Given the description of an element on the screen output the (x, y) to click on. 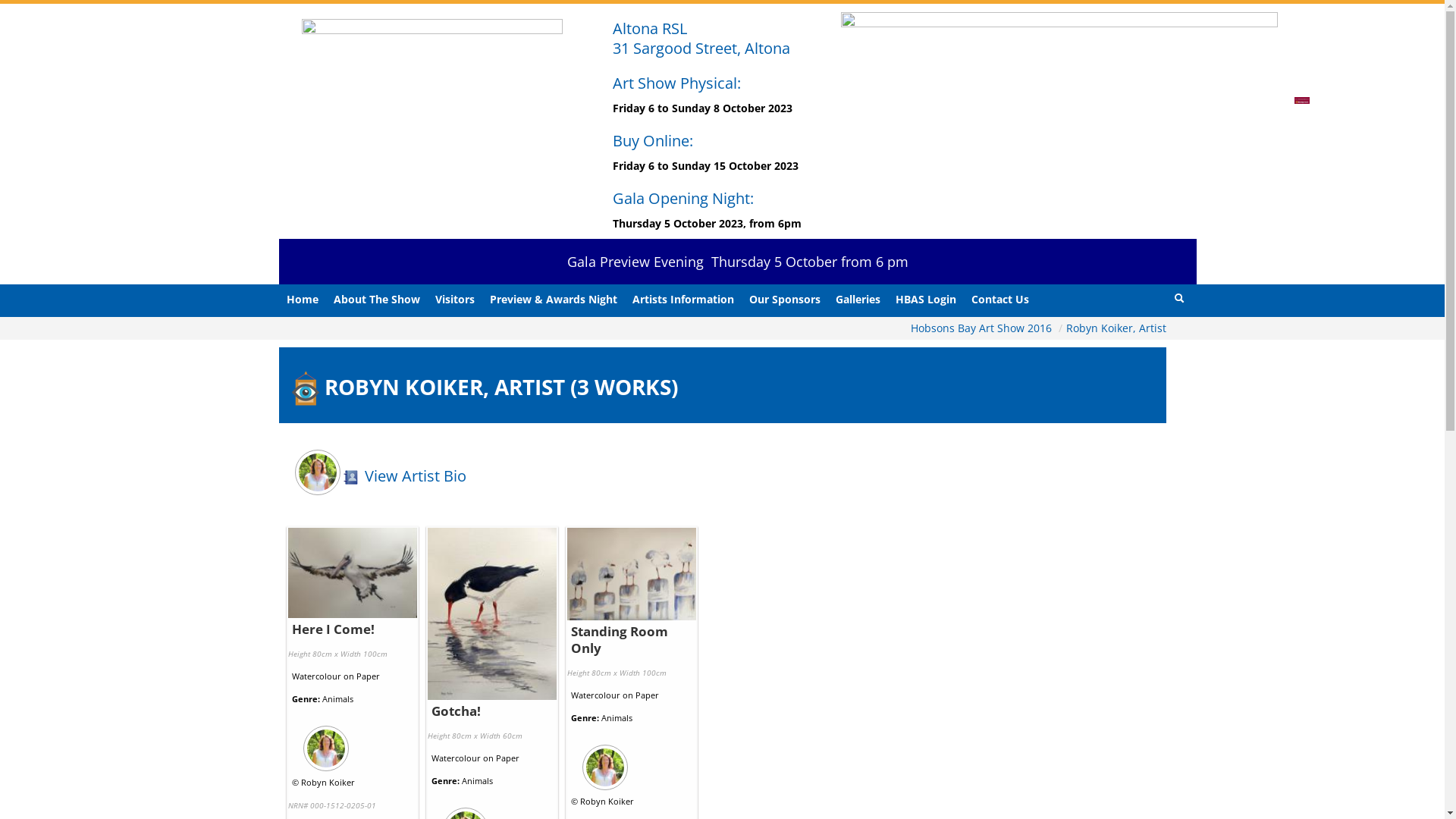
Here I Come! Element type: text (332, 628)
Paper Element type: text (367, 675)
Animals Element type: text (615, 717)
Gala Preview Evening  Thursday 5 October from 6 pm Element type: text (737, 261)
View all works by Robyn Koiker Element type: hover (631, 762)
Artists Information Element type: text (682, 299)
Our Sponsors Element type: text (784, 299)
Watercolour Element type: text (315, 675)
Gotcha! Element type: text (455, 710)
Art Show Physical: Element type: text (676, 82)
Animals Element type: text (476, 780)
About The Show Element type: text (376, 299)
Paper Element type: text (507, 757)
HBAS Login Element type: text (925, 299)
Paper Element type: text (646, 694)
 Artist: Robyn Koiker - Title: Gotcha! ( H 80 cm X W 60 cm)  Element type: hover (491, 614)
Watercolour Element type: text (594, 694)
 Artist: Robyn Koiker - Title: Gotcha! ( H 80 cm X W 60 cm)  Element type: hover (491, 613)
Visitors Element type: text (454, 299)
Hobsons Bay Art Show 2016 Element type: text (982, 327)
Contact Us Element type: text (999, 299)
View all works by Robyn Koiker Element type: hover (352, 743)
Buy Online: Element type: text (652, 140)
Preview & Awards Night Element type: text (553, 299)
Standing Room Only Element type: text (618, 639)
Altona Community Bank Branches - Bendigo Bank Element type: hover (1300, 100)
View Artist Bio Element type: text (403, 475)
Watercolour Element type: text (455, 757)
Robyn Koiker Element type: text (606, 800)
Home Element type: text (302, 299)
Galleries Element type: text (858, 299)
Robyn Koiker Element type: text (327, 781)
Animals Element type: text (336, 698)
